Given the description of an element on the screen output the (x, y) to click on. 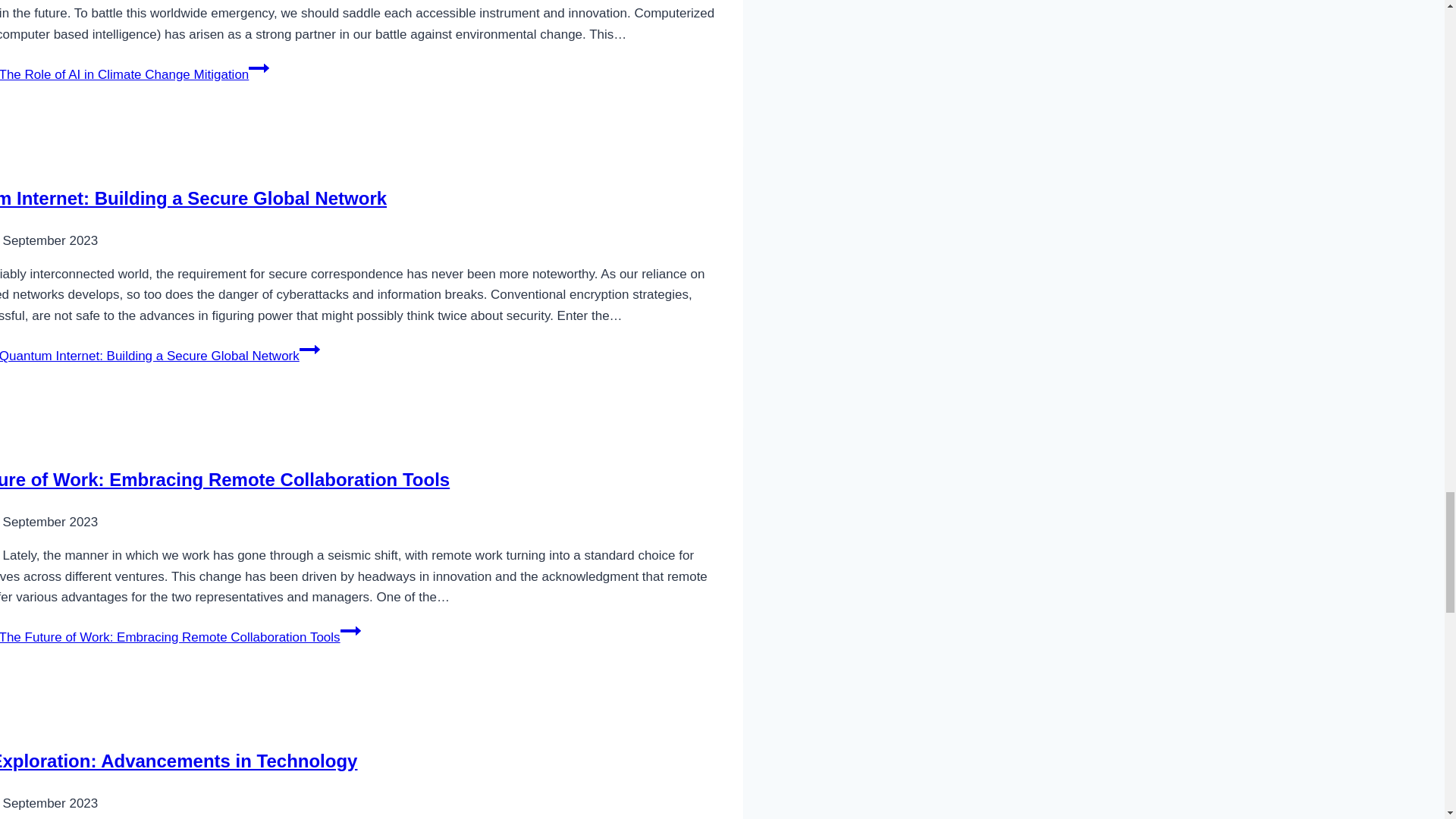
Space Exploration: Advancements in Technology (178, 761)
Continue (309, 349)
The Future of Work: Embracing Remote Collaboration Tools (224, 479)
Continue (350, 630)
Quantum Internet: Building a Secure Global Network (193, 198)
Continue (258, 67)
